Given the description of an element on the screen output the (x, y) to click on. 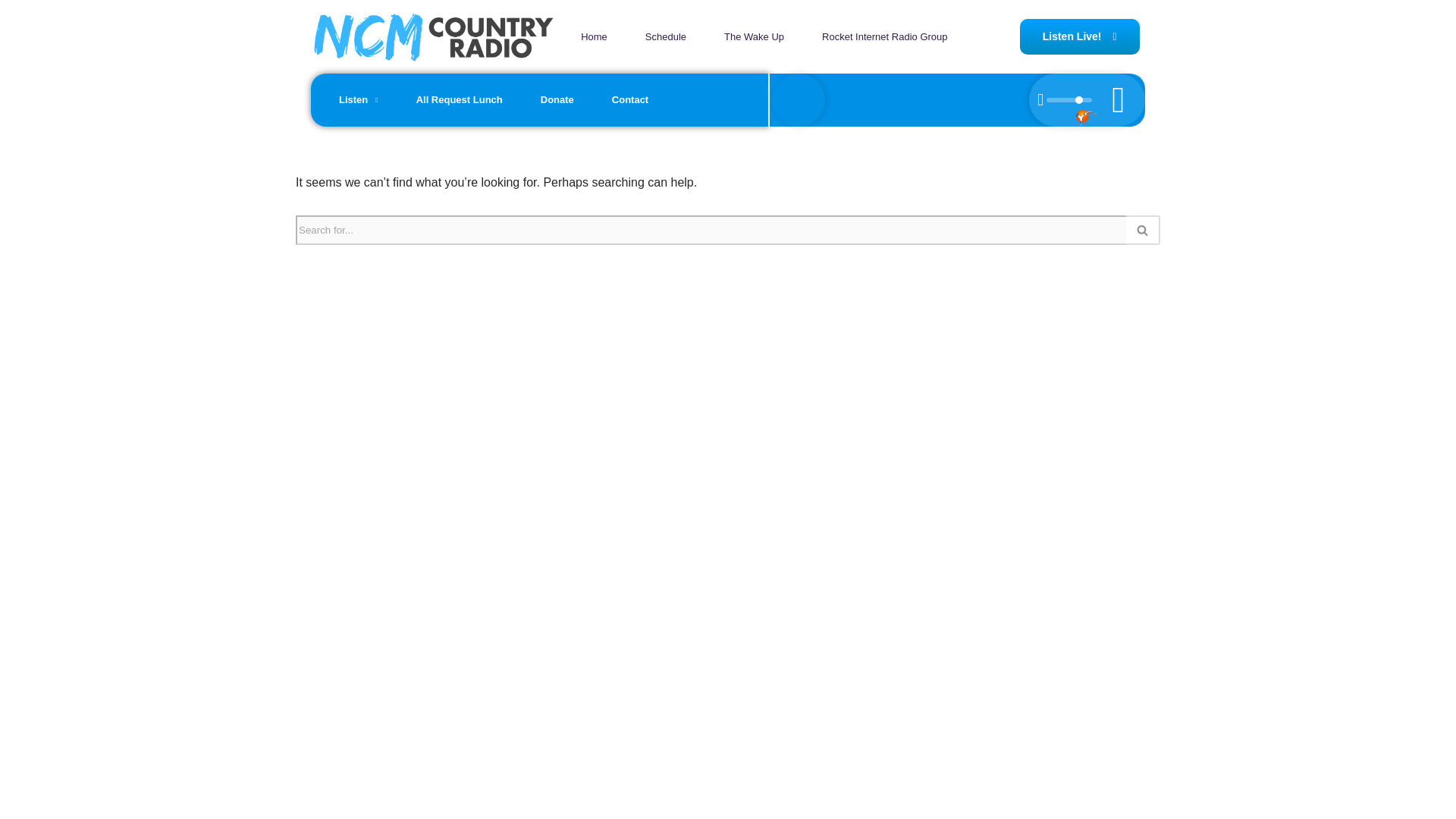
Rocket Internet Radio Group (885, 37)
Skip to content (11, 31)
75 (1069, 100)
Listen Live! (1080, 36)
The Wake Up (754, 37)
Listen (358, 99)
All Request Lunch (458, 99)
